Given the description of an element on the screen output the (x, y) to click on. 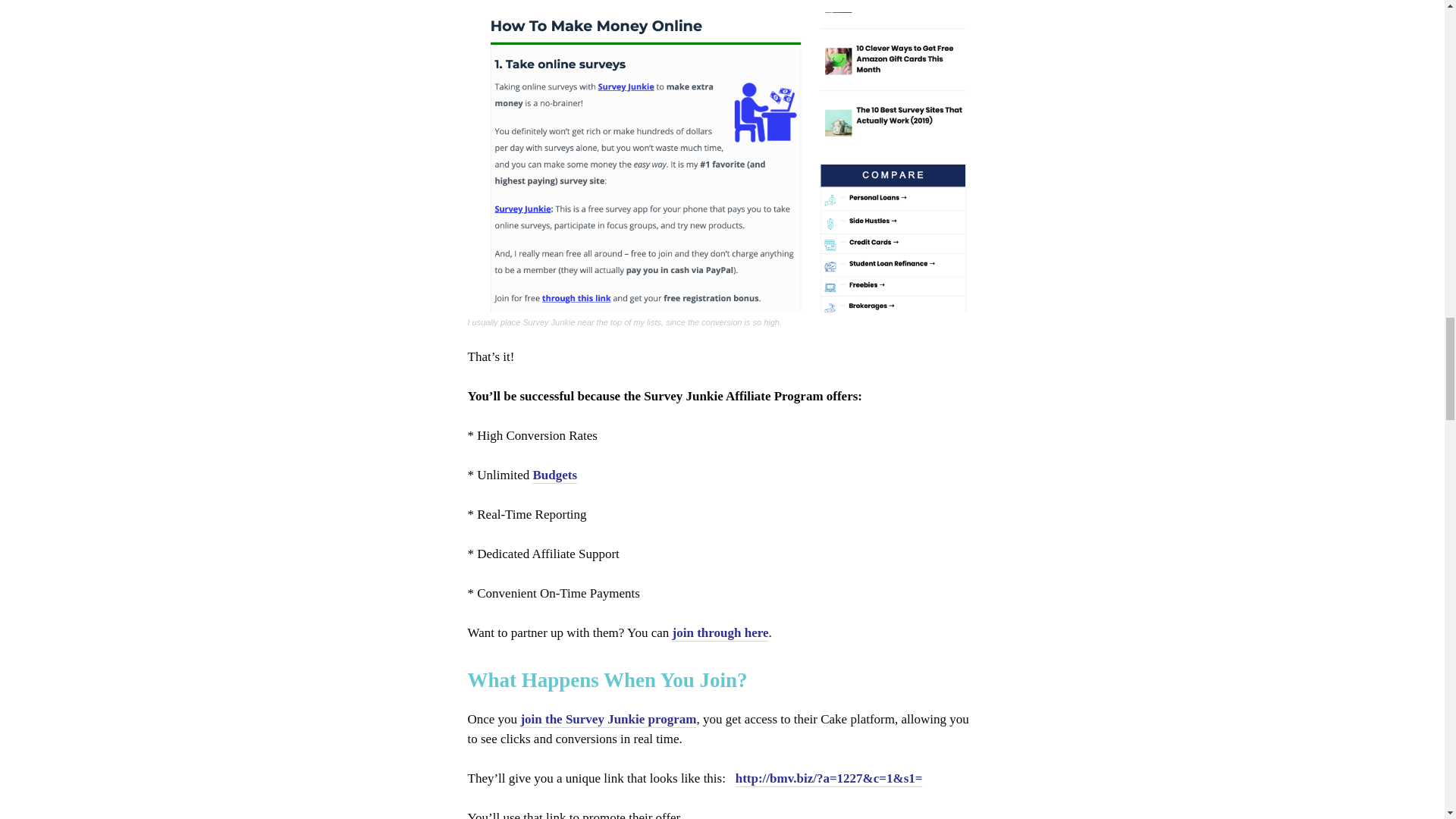
Budgets (554, 474)
